Given the description of an element on the screen output the (x, y) to click on. 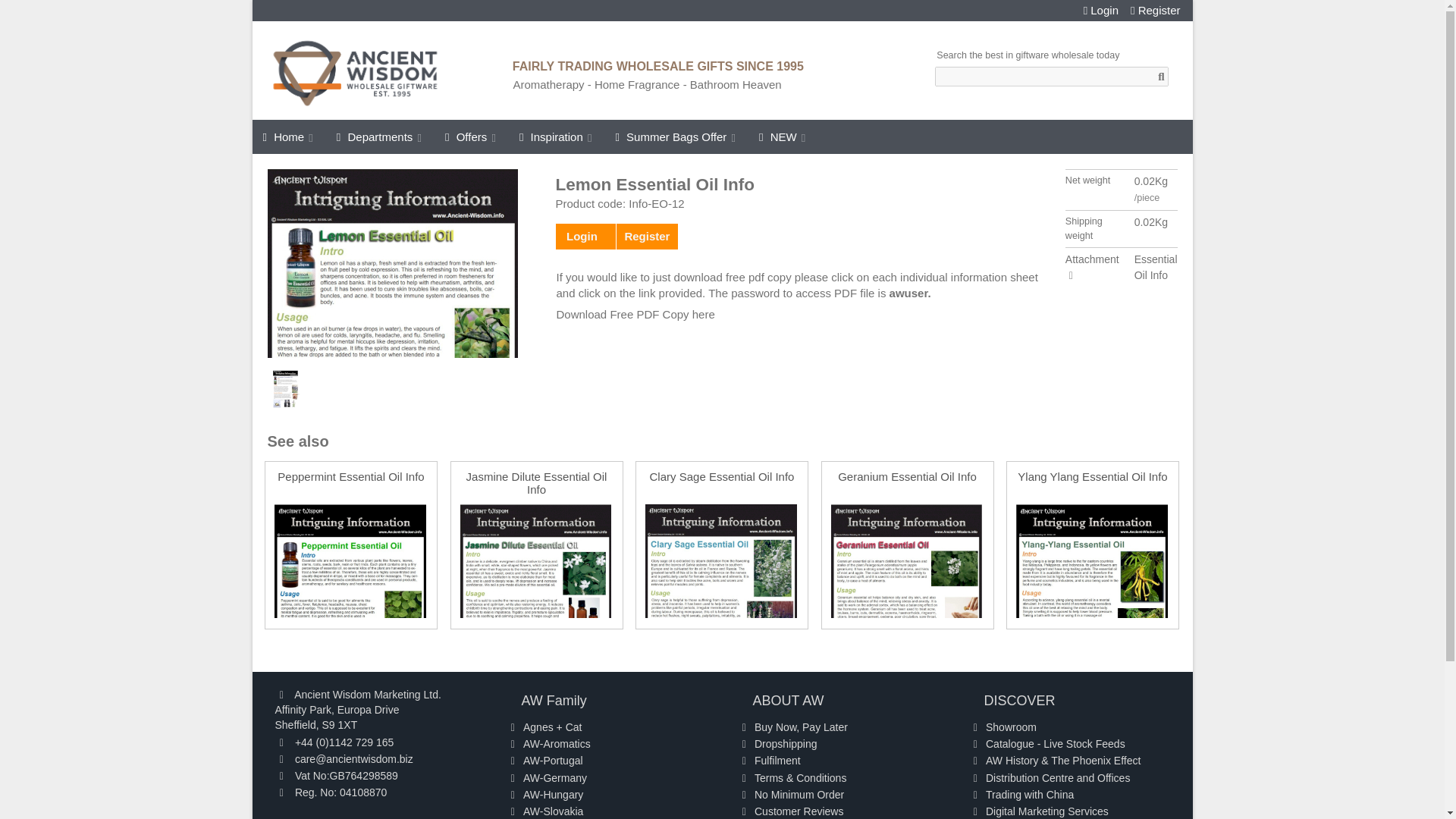
Home (287, 136)
Login (1100, 10)
Register (1155, 10)
Inspiration (556, 136)
Offers (470, 136)
Summer Bags Offer (676, 136)
NEW (783, 136)
Departments (379, 136)
